Given the description of an element on the screen output the (x, y) to click on. 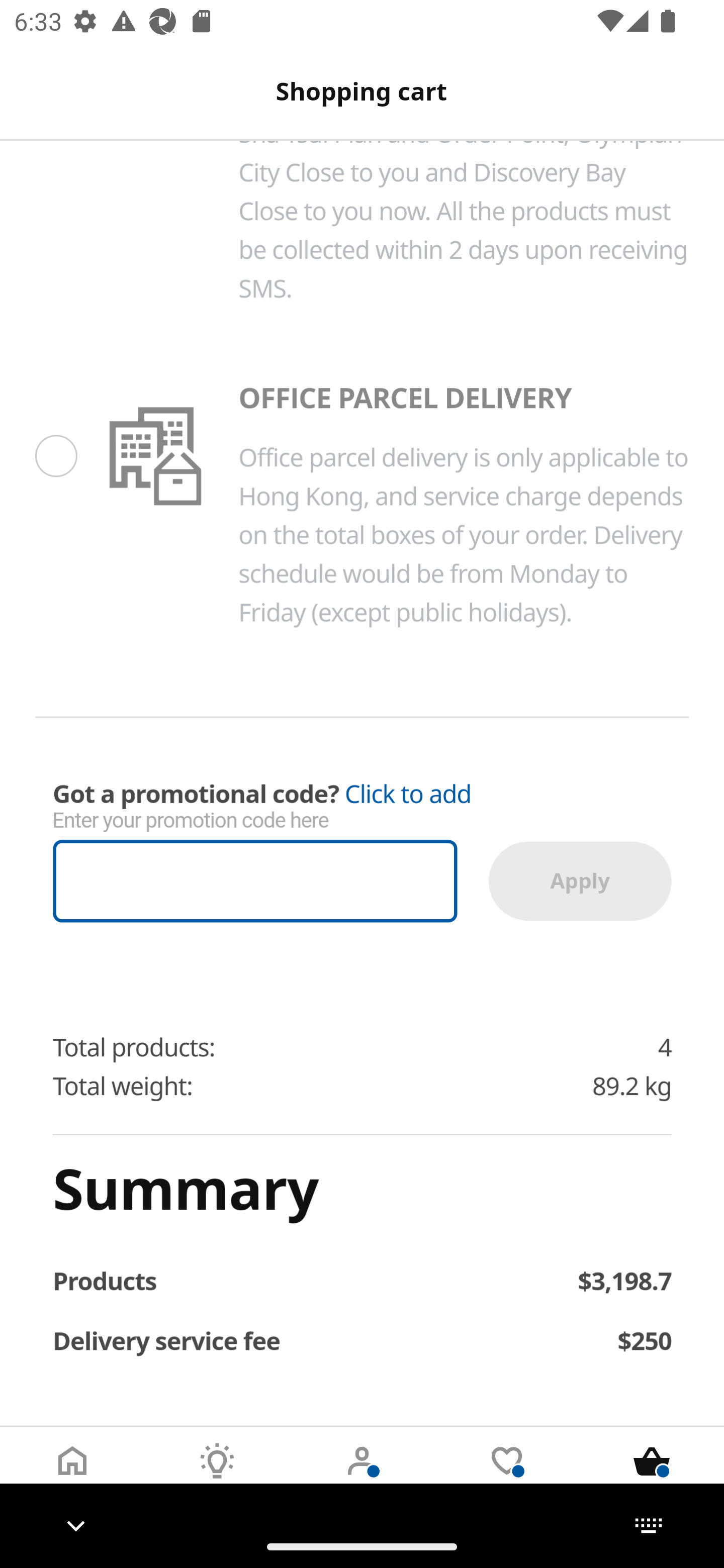
Click to add (408, 794)
Home
Tab 1 of 5 (72, 1476)
Inspirations
Tab 2 of 5 (216, 1476)
User
Tab 3 of 5 (361, 1476)
Wishlist
Tab 4 of 5 (506, 1476)
Cart
Tab 5 of 5 (651, 1476)
